Given the description of an element on the screen output the (x, y) to click on. 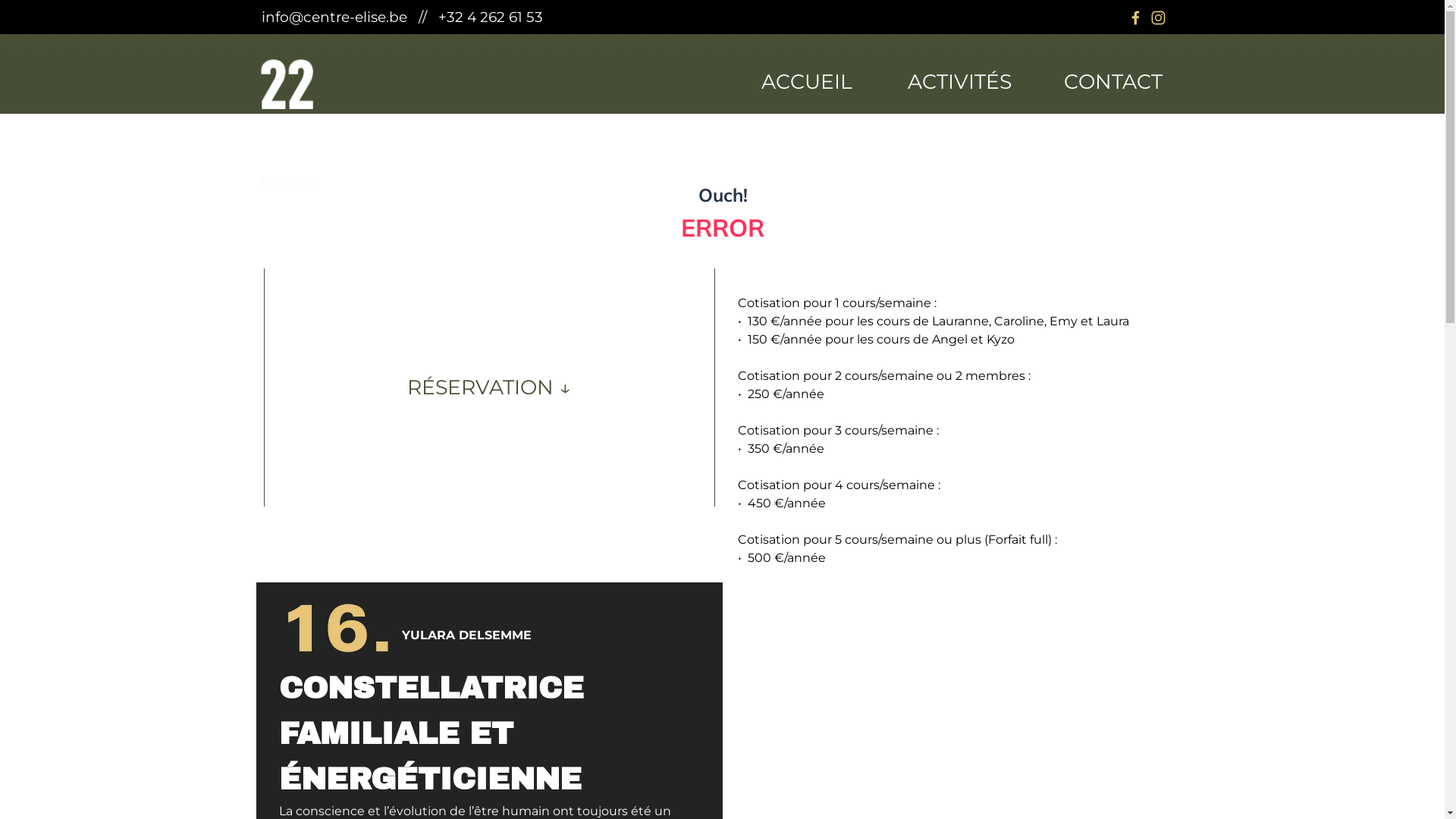
CONTACT Element type: text (1112, 80)
+32 4 262 61 53 Element type: text (490, 16)
info@centre-elise.be Element type: text (333, 16)
ACCUEIL Element type: text (806, 80)
Booking widget Element type: hover (721, 185)
